Given the description of an element on the screen output the (x, y) to click on. 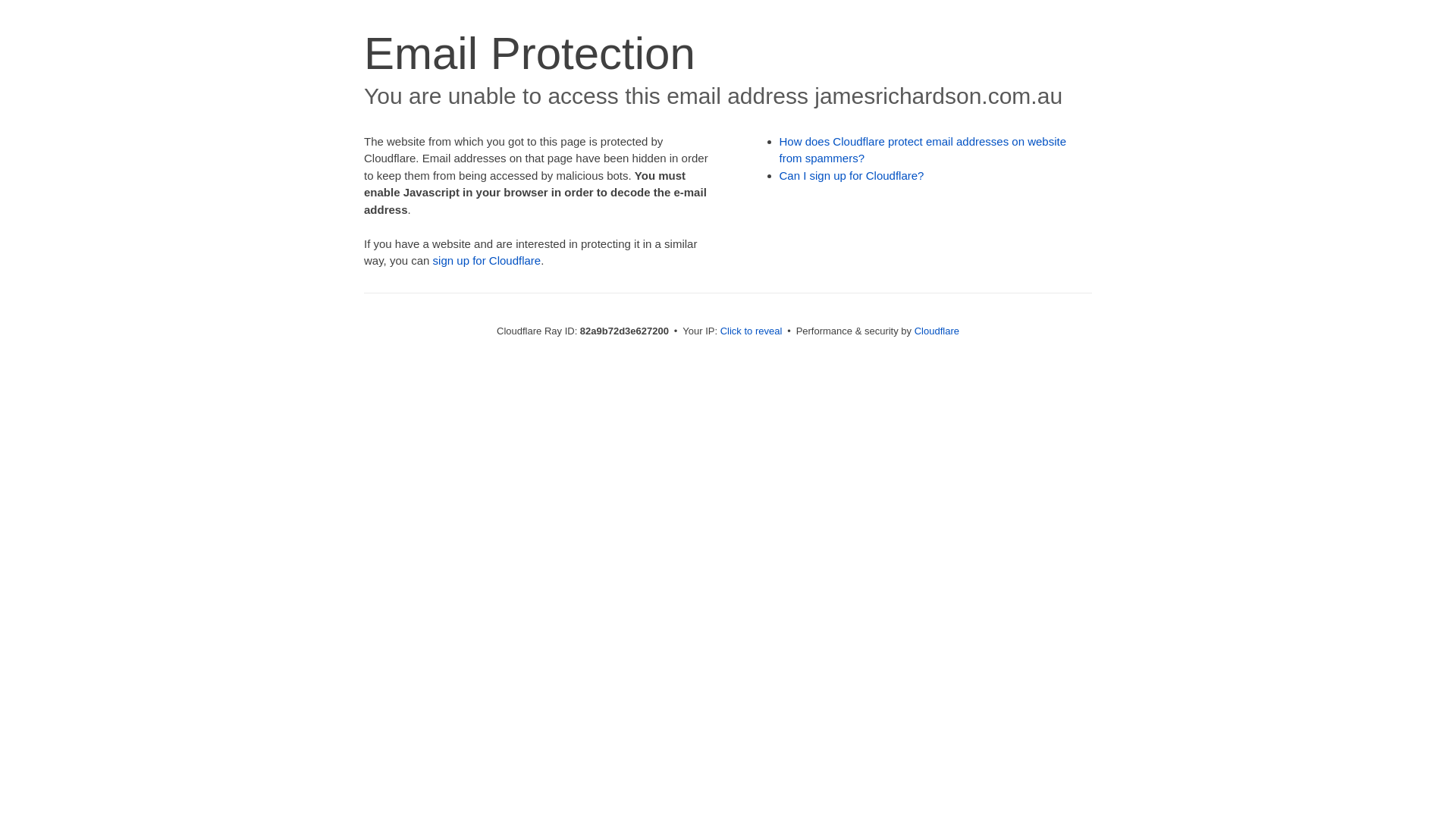
Can I sign up for Cloudflare? Element type: text (851, 175)
sign up for Cloudflare Element type: text (487, 260)
Click to reveal Element type: text (751, 330)
Cloudflare Element type: text (936, 330)
